Given the description of an element on the screen output the (x, y) to click on. 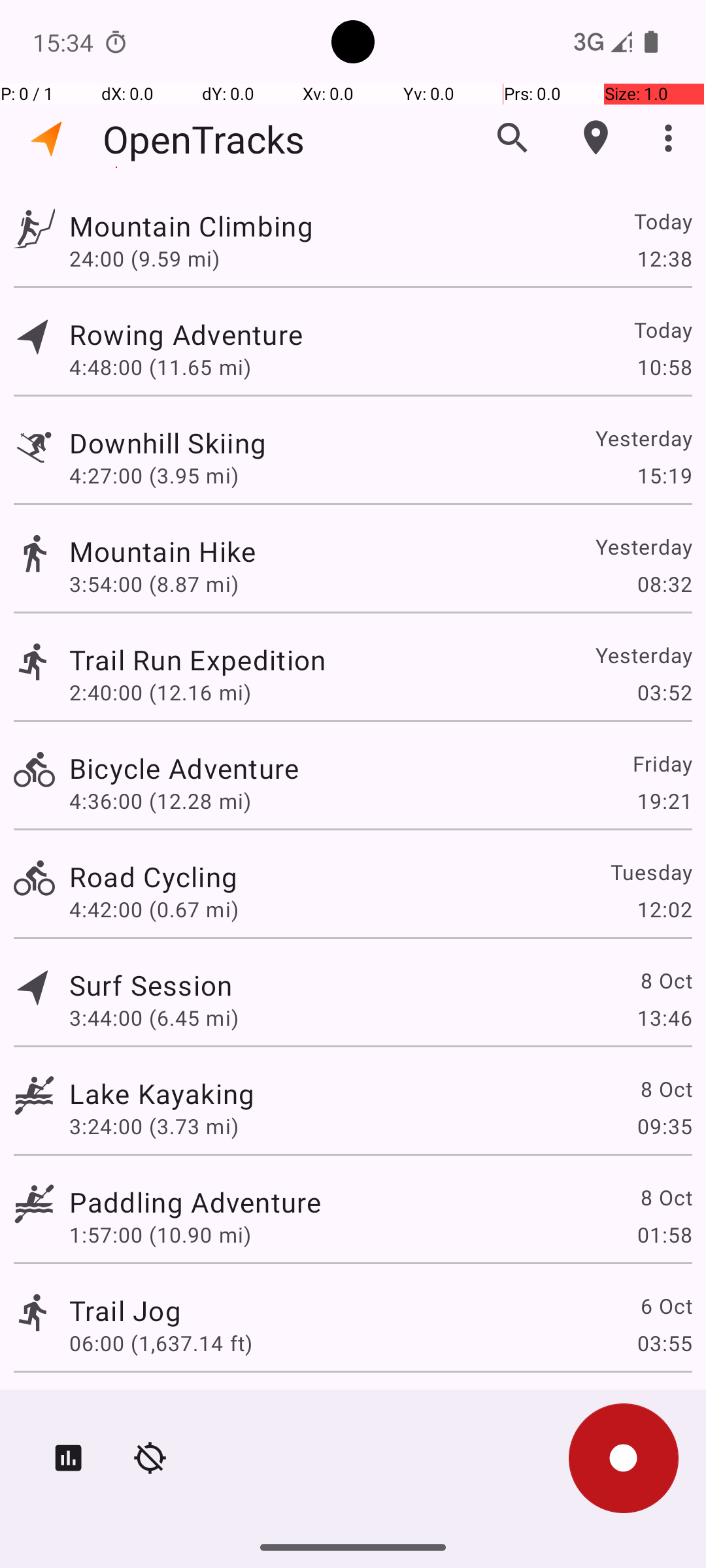
Mountain Climbing Element type: android.widget.TextView (190, 225)
24:00 (9.59 mi) Element type: android.widget.TextView (144, 258)
12:38 Element type: android.widget.TextView (664, 258)
Rowing Adventure Element type: android.widget.TextView (185, 333)
4:48:00 (11.65 mi) Element type: android.widget.TextView (159, 366)
10:58 Element type: android.widget.TextView (664, 366)
Downhill Skiing Element type: android.widget.TextView (167, 442)
4:27:00 (3.95 mi) Element type: android.widget.TextView (153, 475)
15:19 Element type: android.widget.TextView (664, 475)
Mountain Hike Element type: android.widget.TextView (162, 550)
3:54:00 (8.87 mi) Element type: android.widget.TextView (153, 583)
08:32 Element type: android.widget.TextView (664, 583)
Trail Run Expedition Element type: android.widget.TextView (197, 659)
2:40:00 (12.16 mi) Element type: android.widget.TextView (159, 692)
03:52 Element type: android.widget.TextView (664, 692)
Bicycle Adventure Element type: android.widget.TextView (183, 767)
4:36:00 (12.28 mi) Element type: android.widget.TextView (159, 800)
19:21 Element type: android.widget.TextView (664, 800)
Road Cycling Element type: android.widget.TextView (152, 876)
4:42:00 (0.67 mi) Element type: android.widget.TextView (153, 909)
12:02 Element type: android.widget.TextView (664, 909)
Surf Session Element type: android.widget.TextView (150, 984)
3:44:00 (6.45 mi) Element type: android.widget.TextView (153, 1017)
13:46 Element type: android.widget.TextView (664, 1017)
Lake Kayaking Element type: android.widget.TextView (161, 1092)
3:24:00 (3.73 mi) Element type: android.widget.TextView (153, 1125)
09:35 Element type: android.widget.TextView (664, 1125)
Paddling Adventure Element type: android.widget.TextView (194, 1201)
1:57:00 (10.90 mi) Element type: android.widget.TextView (159, 1234)
01:58 Element type: android.widget.TextView (664, 1234)
Trail Jog Element type: android.widget.TextView (124, 1309)
06:00 (1,637.14 ft) Element type: android.widget.TextView (160, 1342)
03:55 Element type: android.widget.TextView (664, 1342)
Slope Riding Element type: android.widget.TextView (149, 1408)
5 Oct Element type: android.widget.TextView (665, 1408)
